Given the description of an element on the screen output the (x, y) to click on. 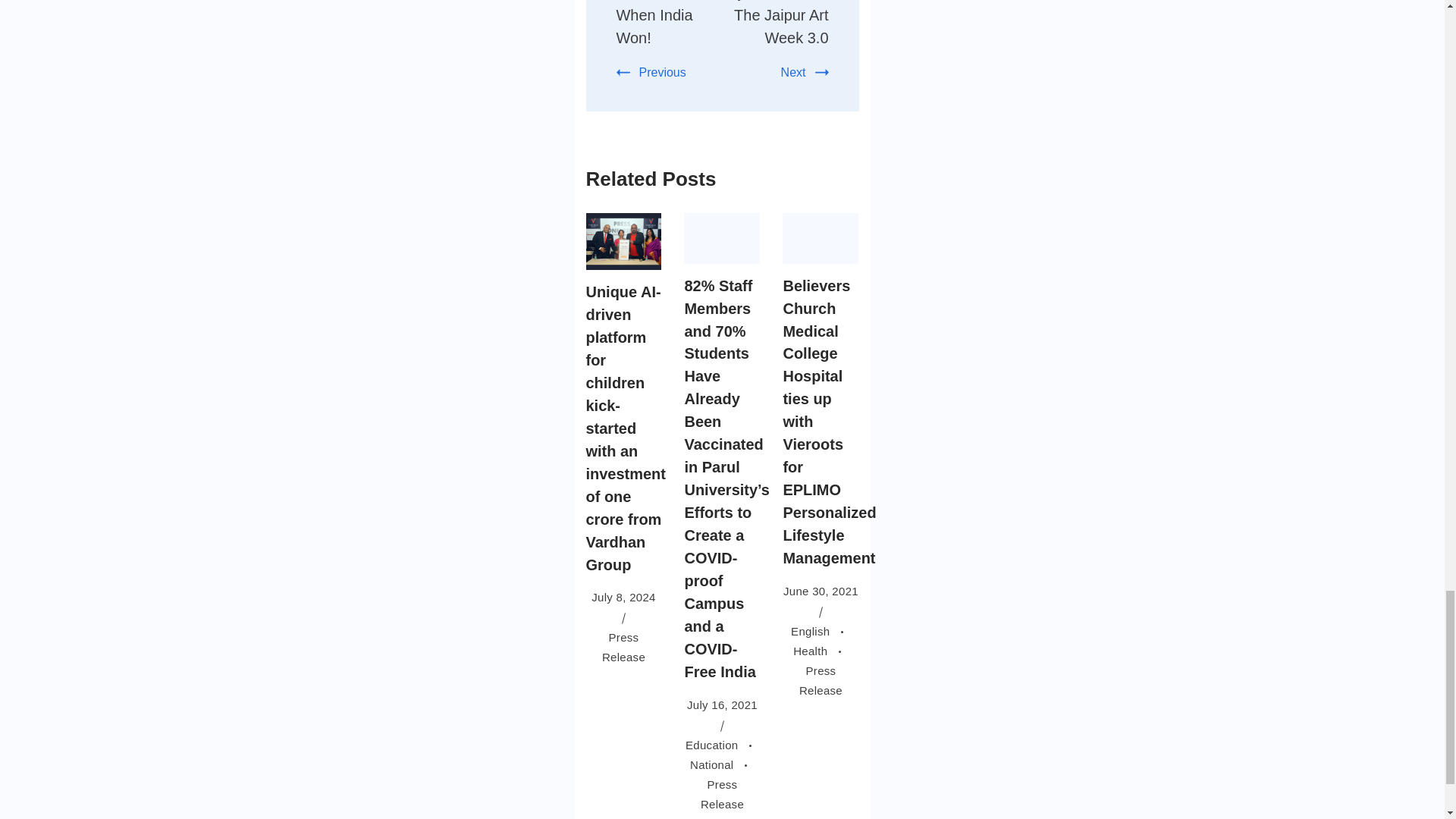
Press Release (623, 646)
Previous (650, 72)
Press Release (722, 794)
Next (804, 72)
Education (721, 744)
National (722, 764)
